Given the description of an element on the screen output the (x, y) to click on. 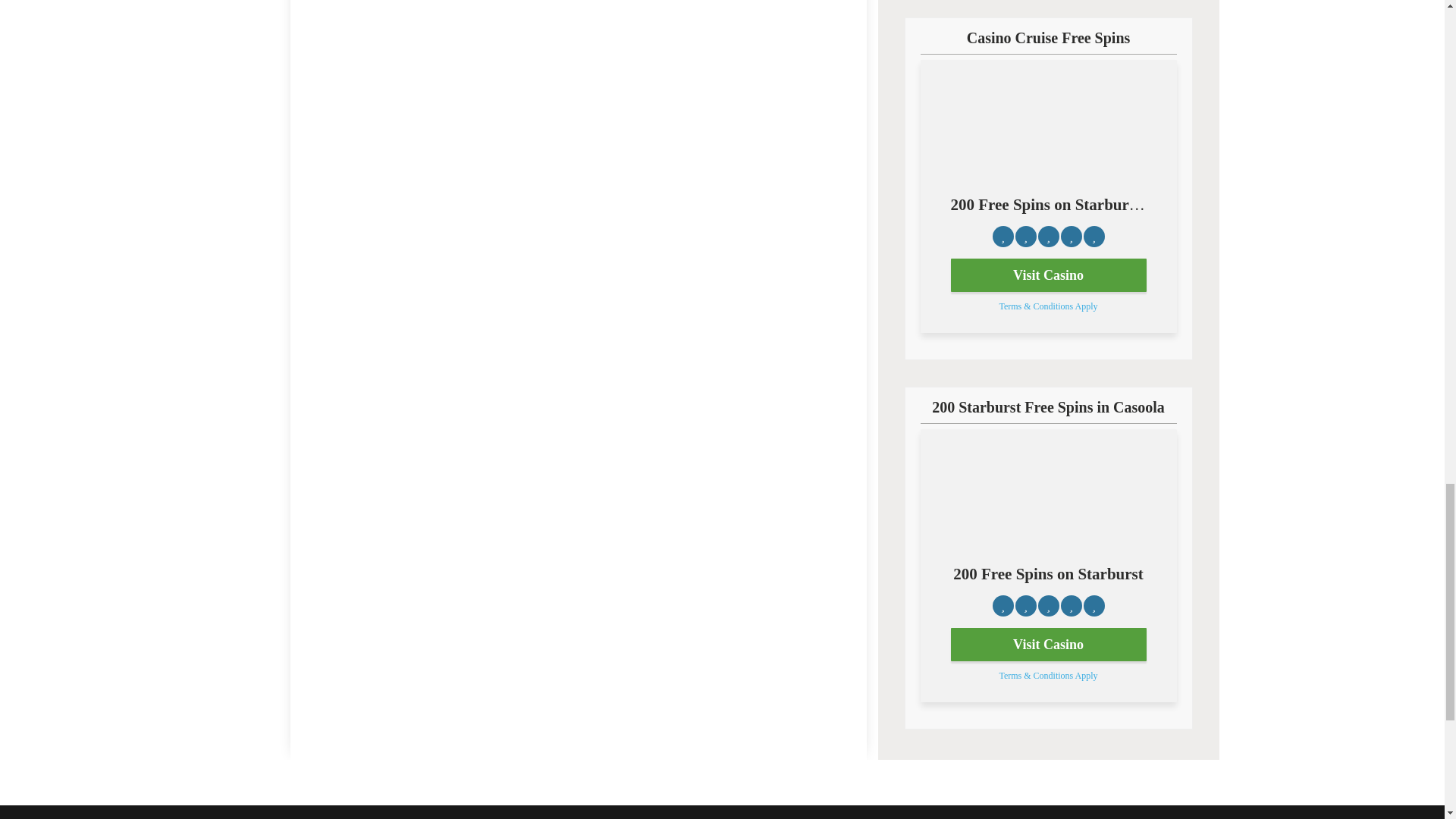
Visit Casino (1048, 274)
Visit Casino (1048, 644)
